Given the description of an element on the screen output the (x, y) to click on. 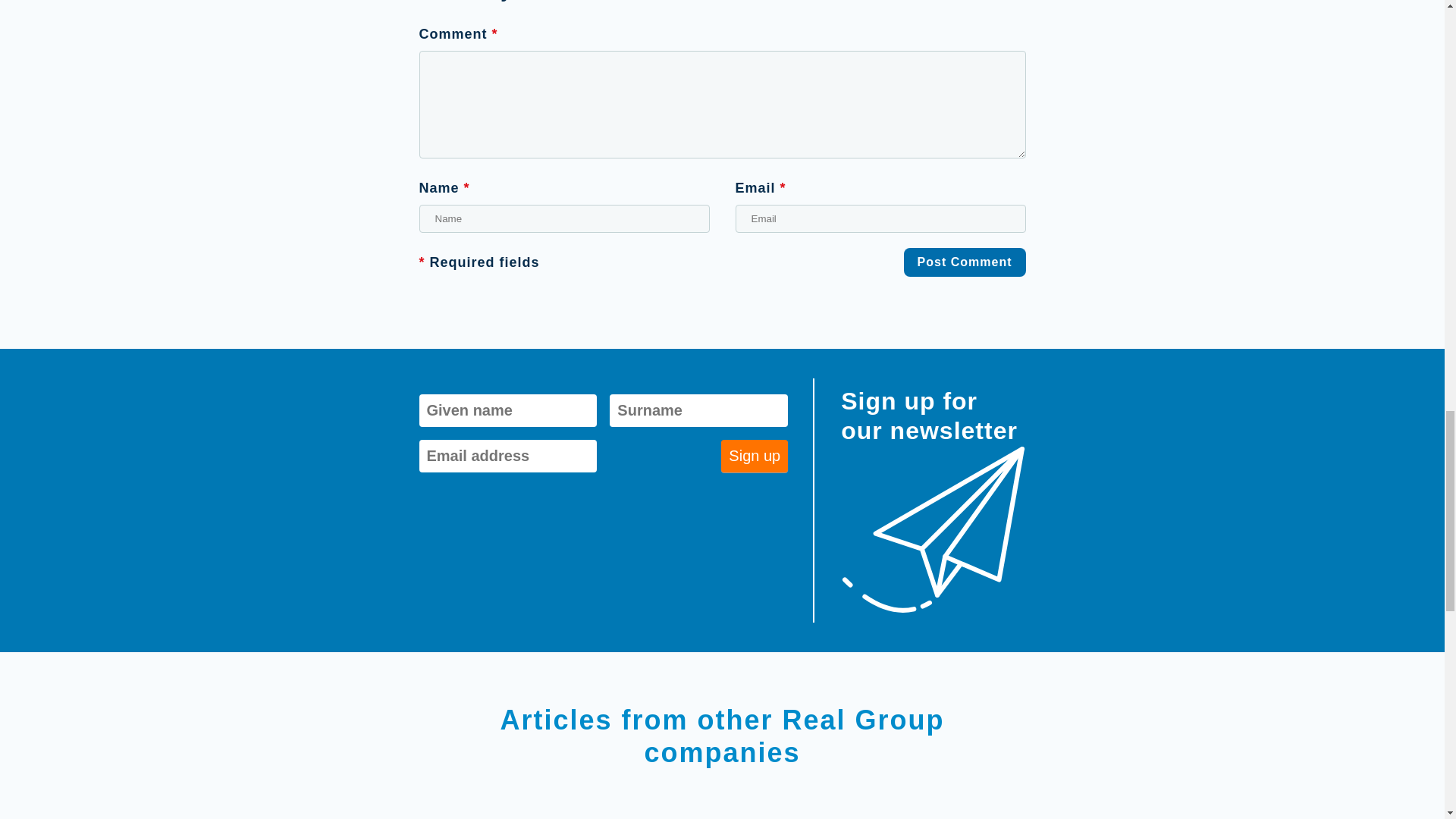
Post Comment (965, 262)
Sign up (753, 455)
